Given the description of an element on the screen output the (x, y) to click on. 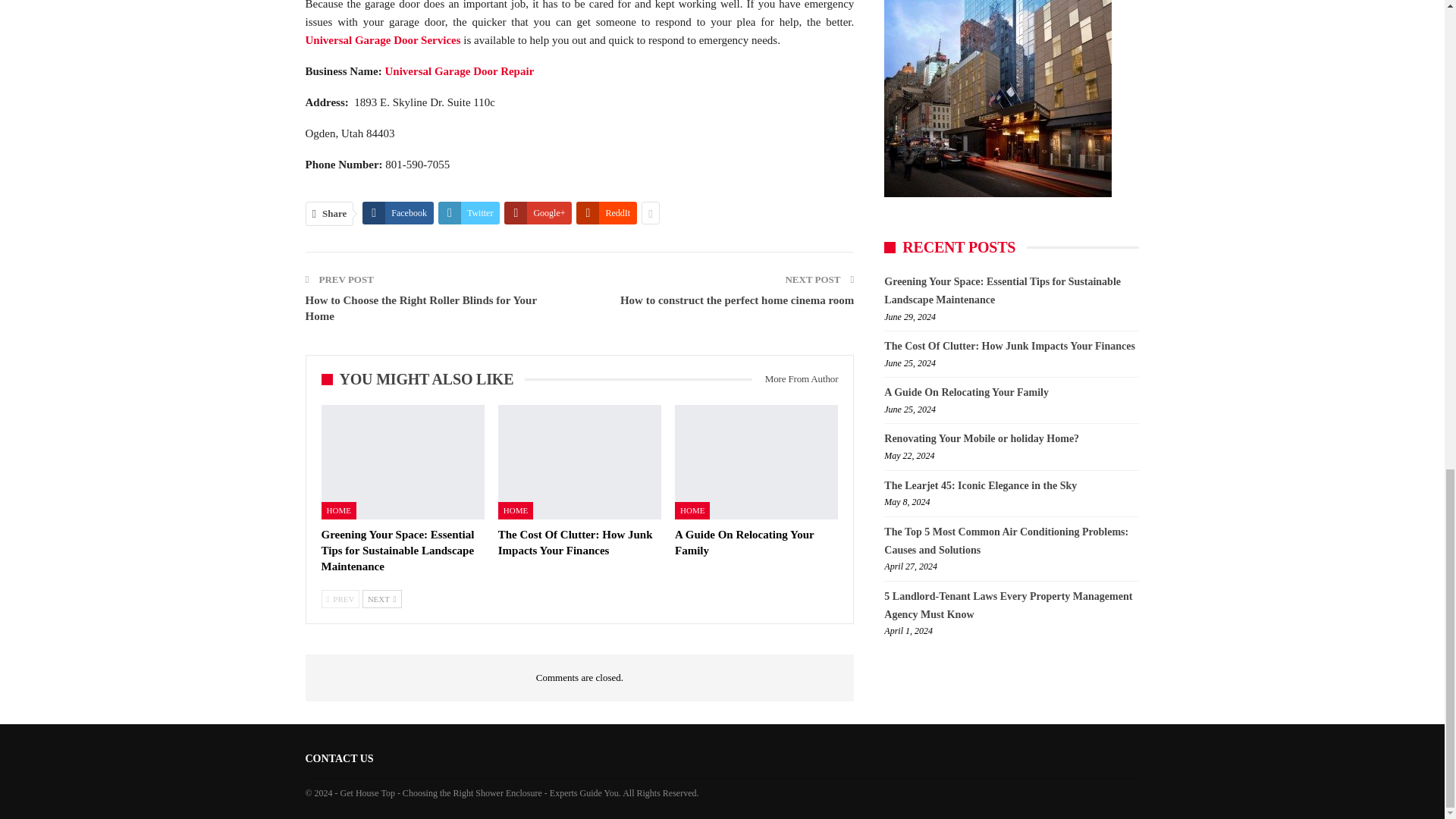
A Guide On Relocating Your Family (744, 542)
The Cost Of Clutter: How Junk Impacts Your Finances (574, 542)
Next (381, 598)
A Guide On Relocating Your Family (756, 461)
Universal Garage Door Services (382, 39)
Facebook (397, 212)
The Cost Of Clutter: How Junk Impacts Your Finances (579, 461)
Universal Garage Door Repair  (461, 70)
Previous (340, 598)
